Given the description of an element on the screen output the (x, y) to click on. 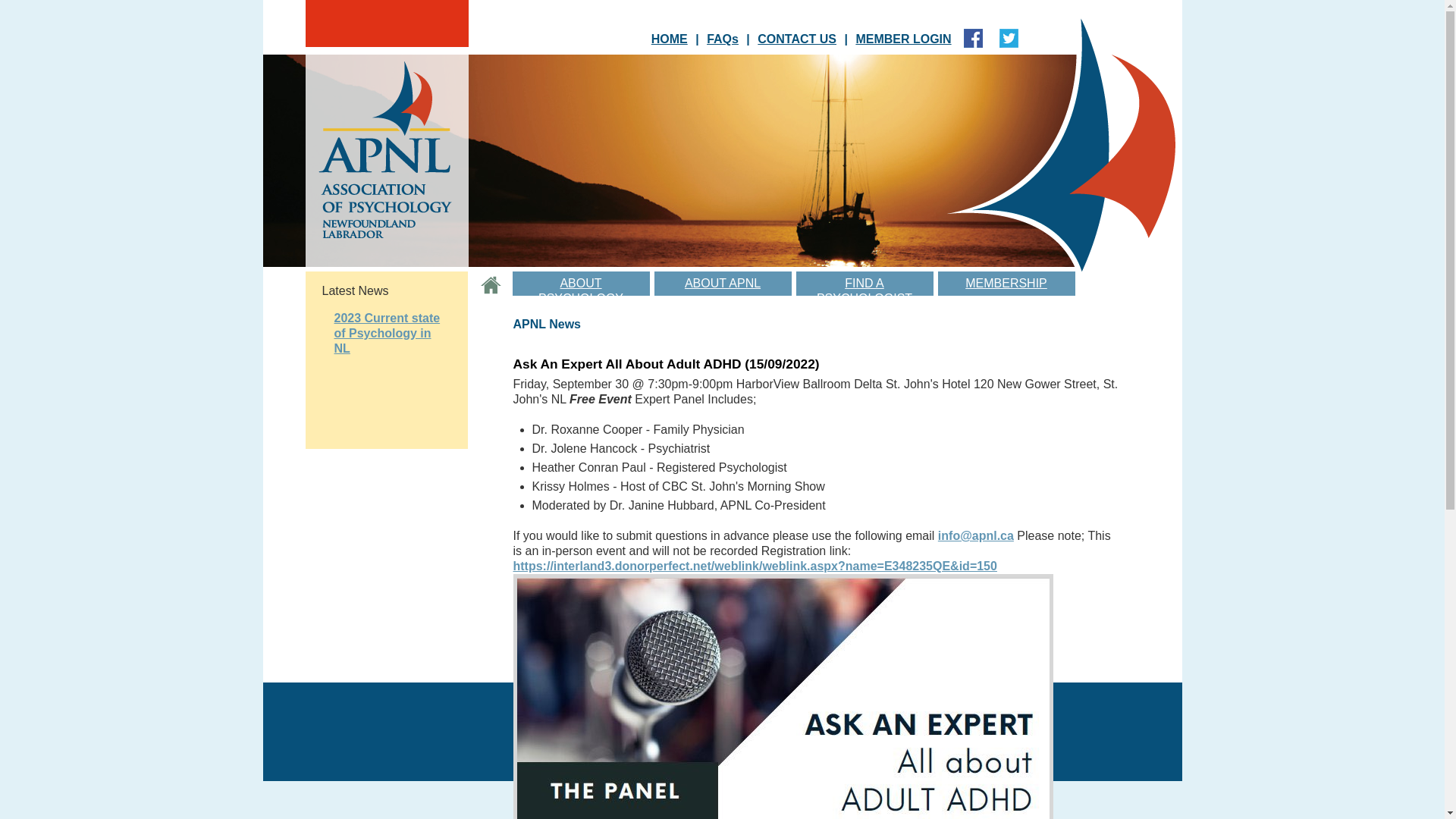
MEMBERSHIP Element type: text (1005, 283)
MEMBER LOGIN Element type: text (902, 38)
HOME Element type: text (623, 704)
CONTACT US Element type: text (800, 704)
FIND A PSYCHOLOGIST Element type: text (864, 283)
CONTACT US Element type: text (796, 38)
info@apnl.ca Element type: text (975, 535)
ABOUT PSYCHOLOGY Element type: text (580, 283)
HOME Element type: text (669, 38)
2023 Current state of Psychology in NL Element type: text (386, 332)
ABOUT APNL Element type: text (721, 283)
FAQs Element type: text (722, 38)
CLASSIFIEDS Element type: text (701, 704)
